Given the description of an element on the screen output the (x, y) to click on. 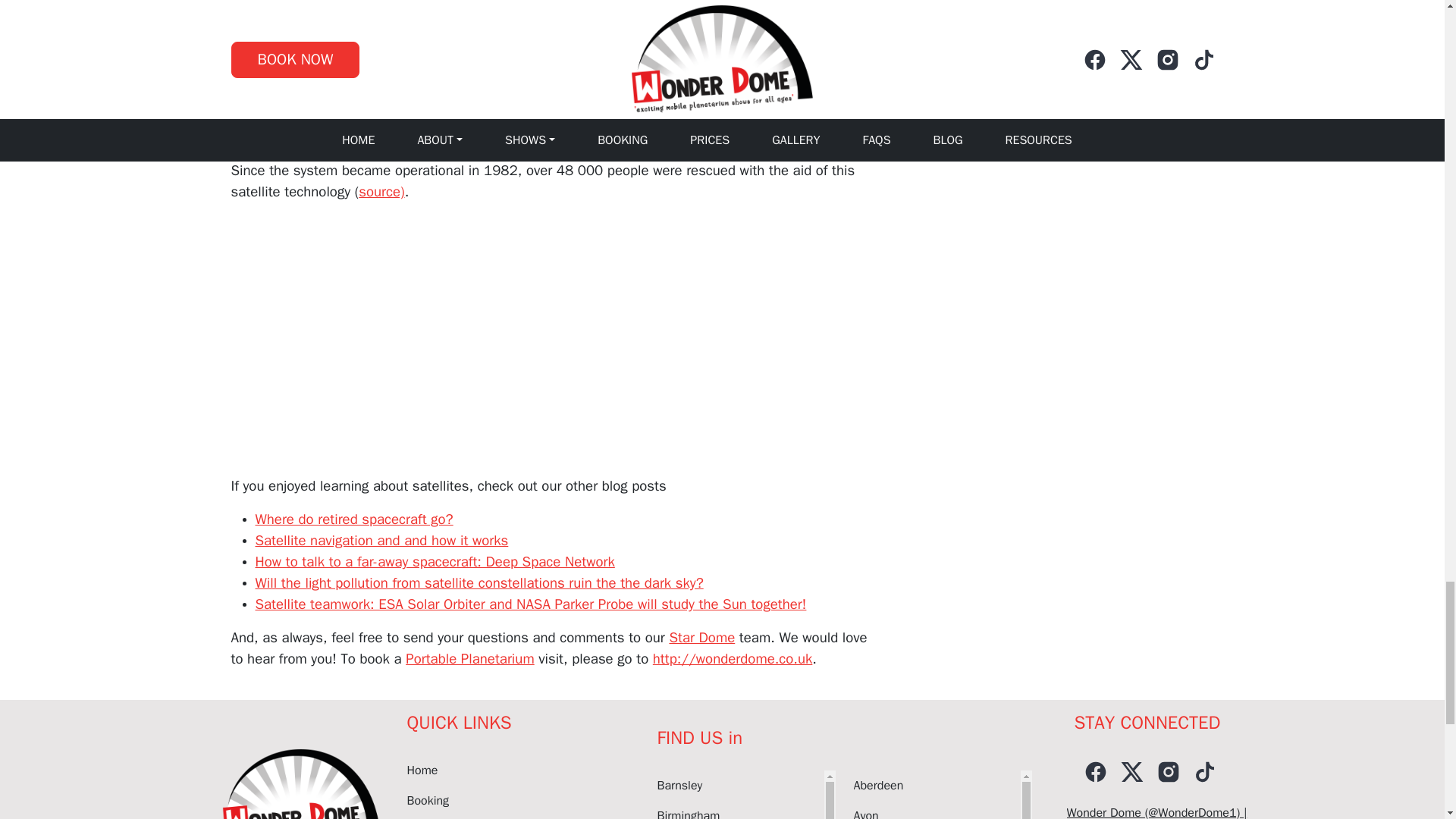
Where do retired spacecraft go? (353, 519)
Star Dome (701, 637)
Satellite navigation and and how it works (381, 540)
Cospas-Sarsat - How it Works (420, 350)
How to talk to a far-away spacecraft: Deep Space Network (434, 561)
